Given the description of an element on the screen output the (x, y) to click on. 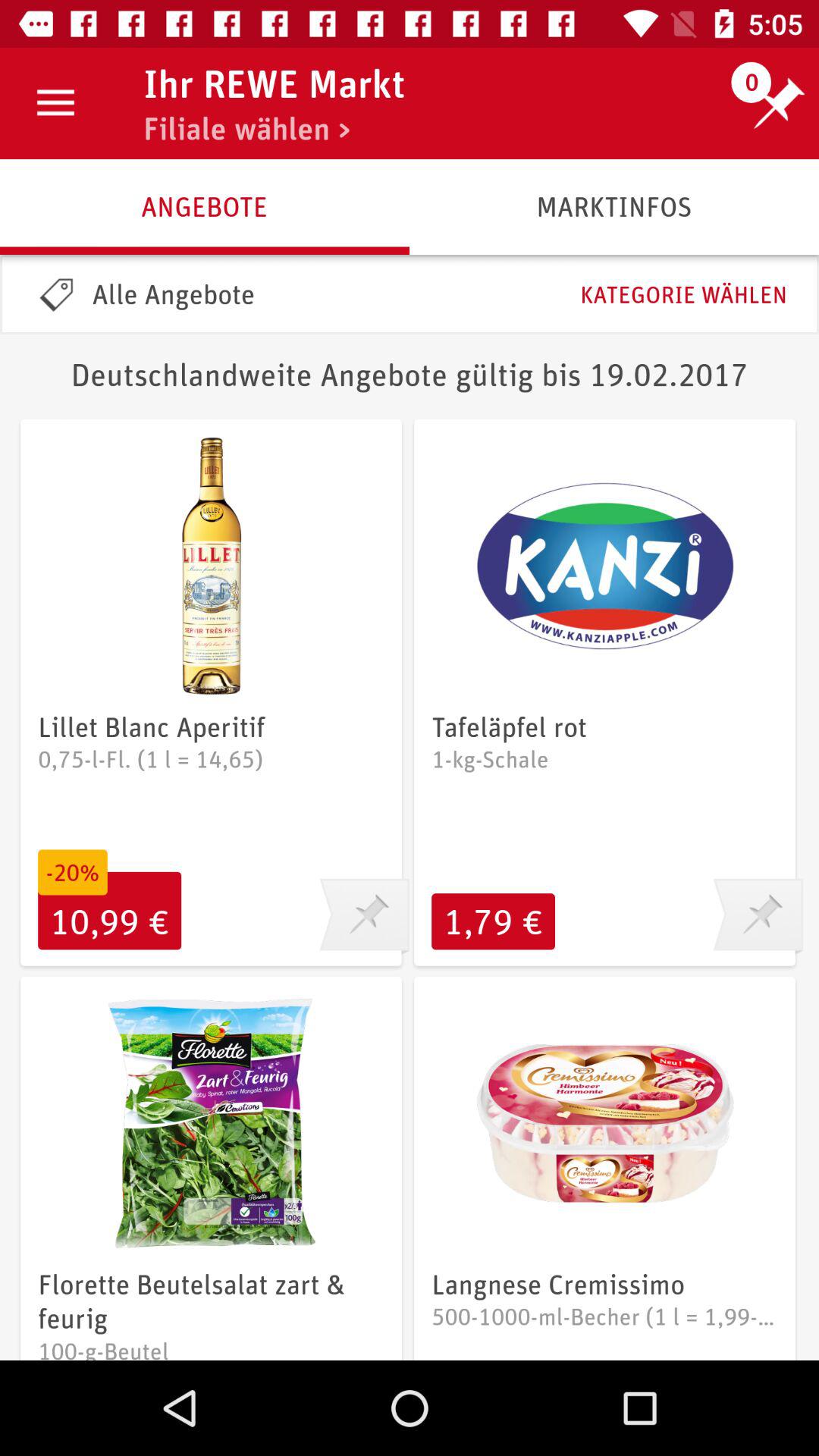
favorite this item (364, 917)
